Given the description of an element on the screen output the (x, y) to click on. 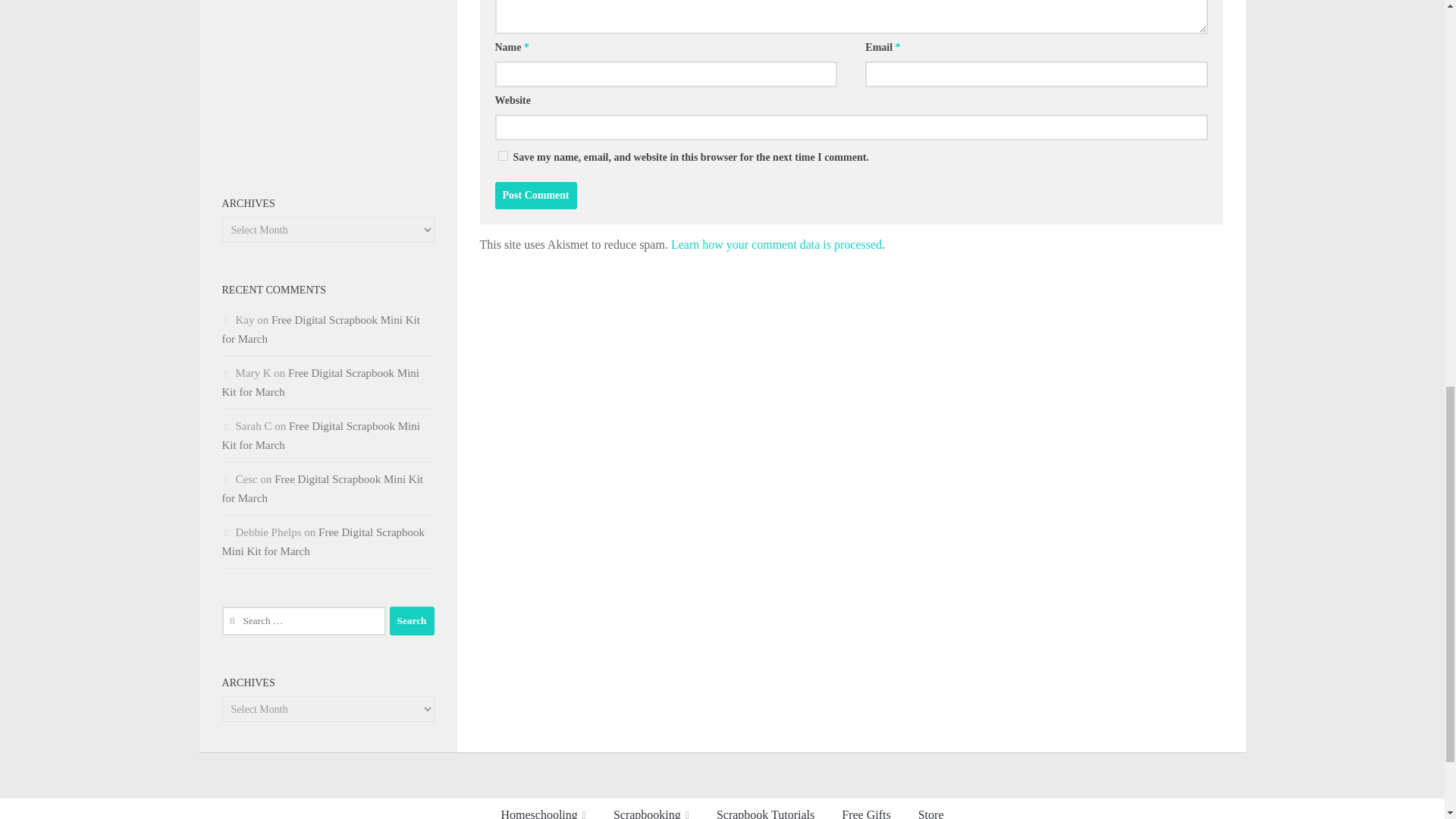
Learn how your comment data is processed (776, 244)
yes (501, 155)
Post Comment (535, 195)
Search (411, 620)
Search (411, 620)
Post Comment (535, 195)
